Given the description of an element on the screen output the (x, y) to click on. 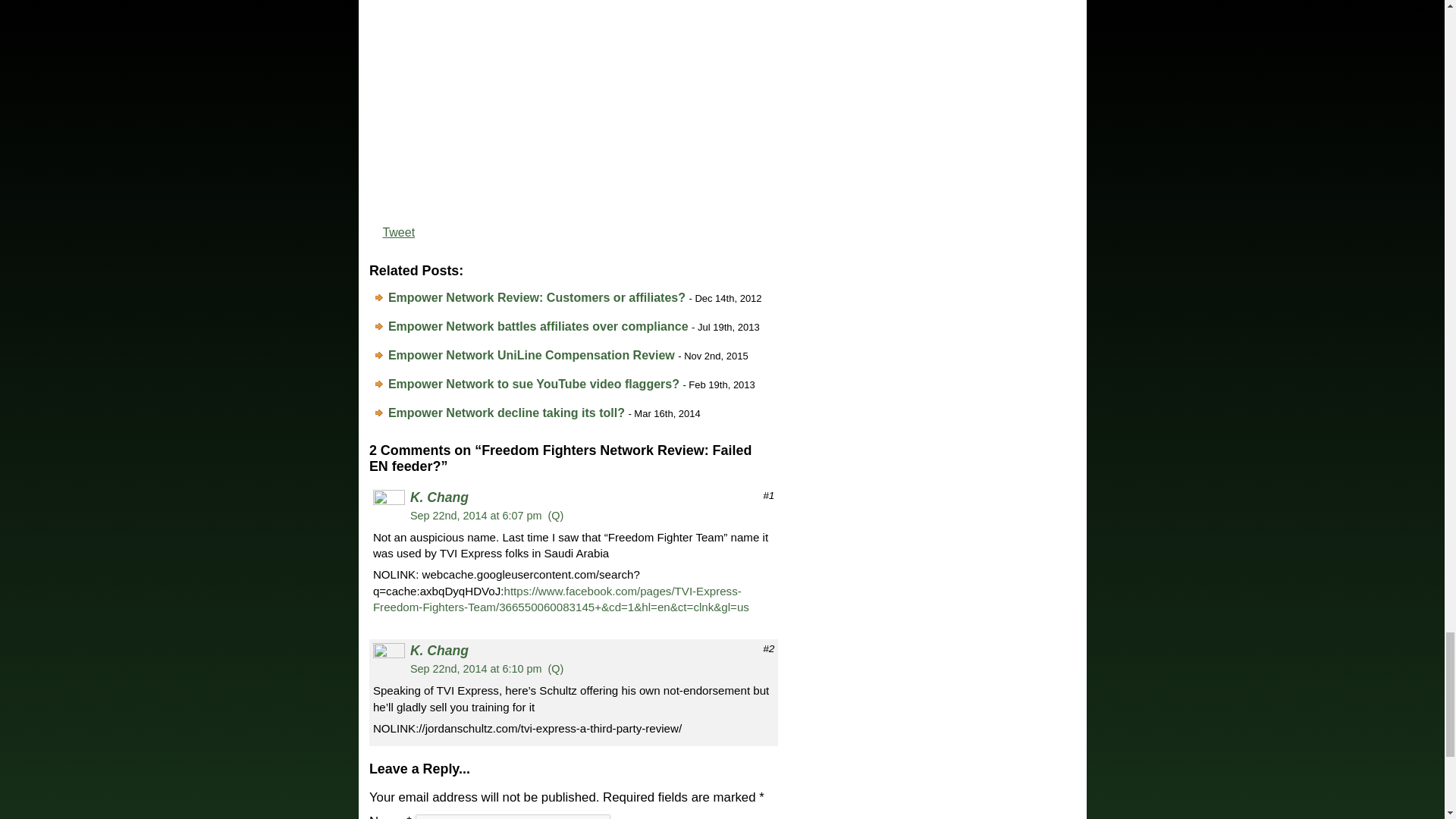
K. Chang (439, 650)
Empower Network battles affiliates over compliance (538, 326)
Sep 22nd, 2014 at 6:07 pm (475, 515)
Tweet (397, 232)
Empower Network Review: Customers or affiliates? (536, 297)
Empower Network to sue YouTube video flaggers? (533, 383)
Click here or select text to quote comment (556, 515)
Empower Network decline taking its toll? (506, 412)
Sep 22nd, 2014 at 6:10 pm (475, 668)
Empower Network UniLine Compensation Review (531, 354)
